Given the description of an element on the screen output the (x, y) to click on. 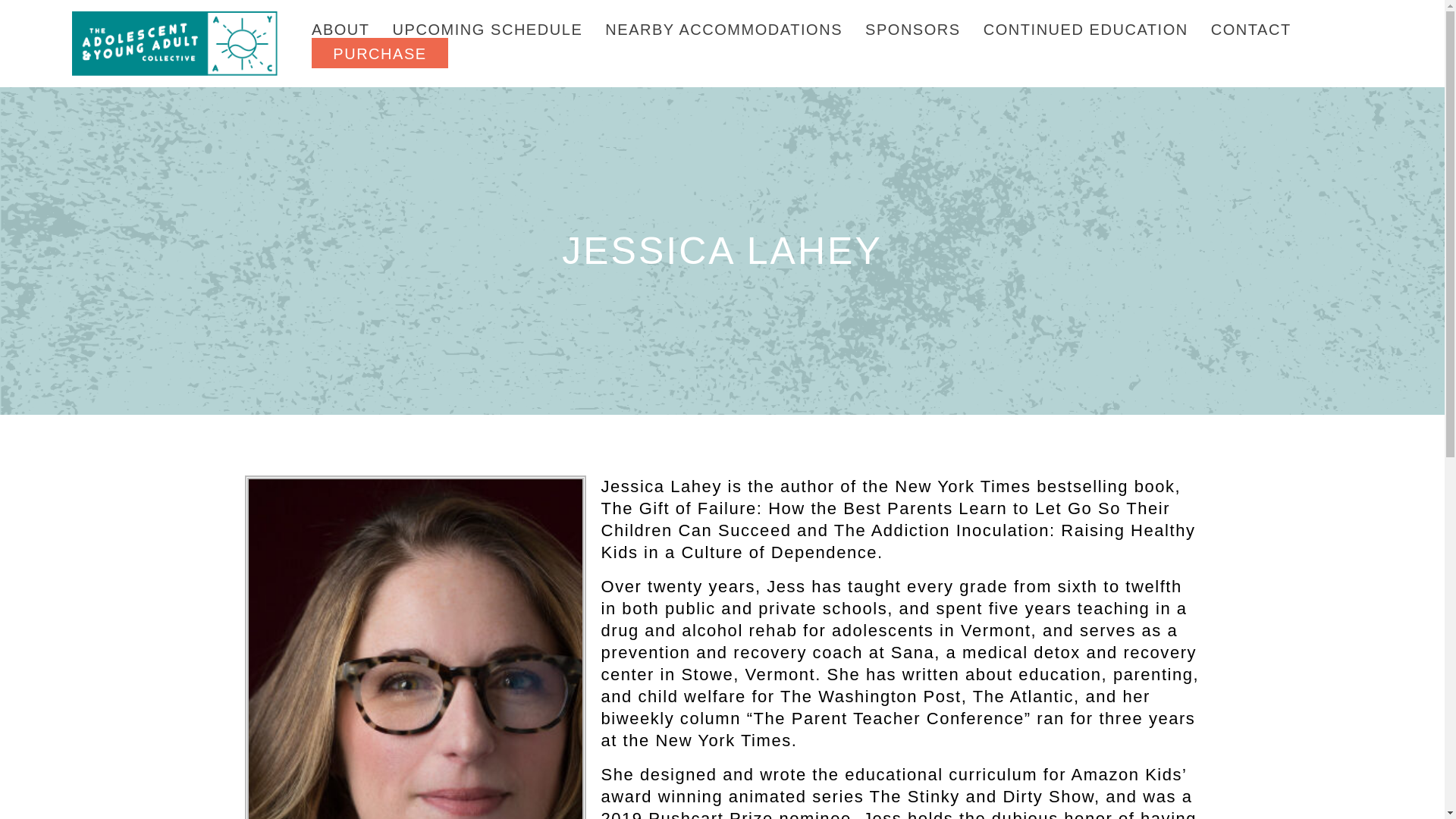
CONTINUED EDUCATION (1086, 30)
NEARBY ACCOMMODATIONS (724, 30)
CONTACT (1251, 30)
PURCHASE TICKETS (379, 65)
UPCOMING SCHEDULE (488, 30)
ABOUT (340, 30)
SPONSORS (912, 30)
